Given the description of an element on the screen output the (x, y) to click on. 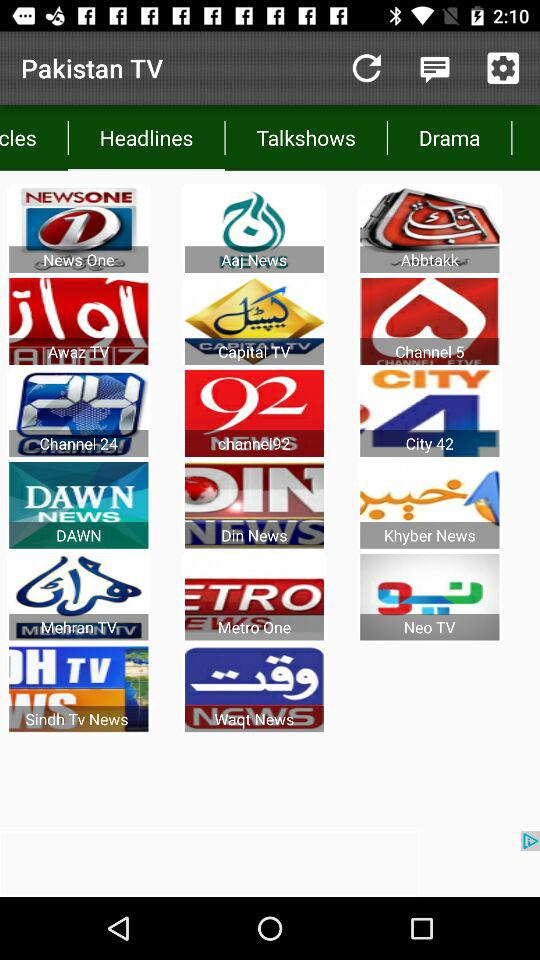
open the morningshows (525, 137)
